Given the description of an element on the screen output the (x, y) to click on. 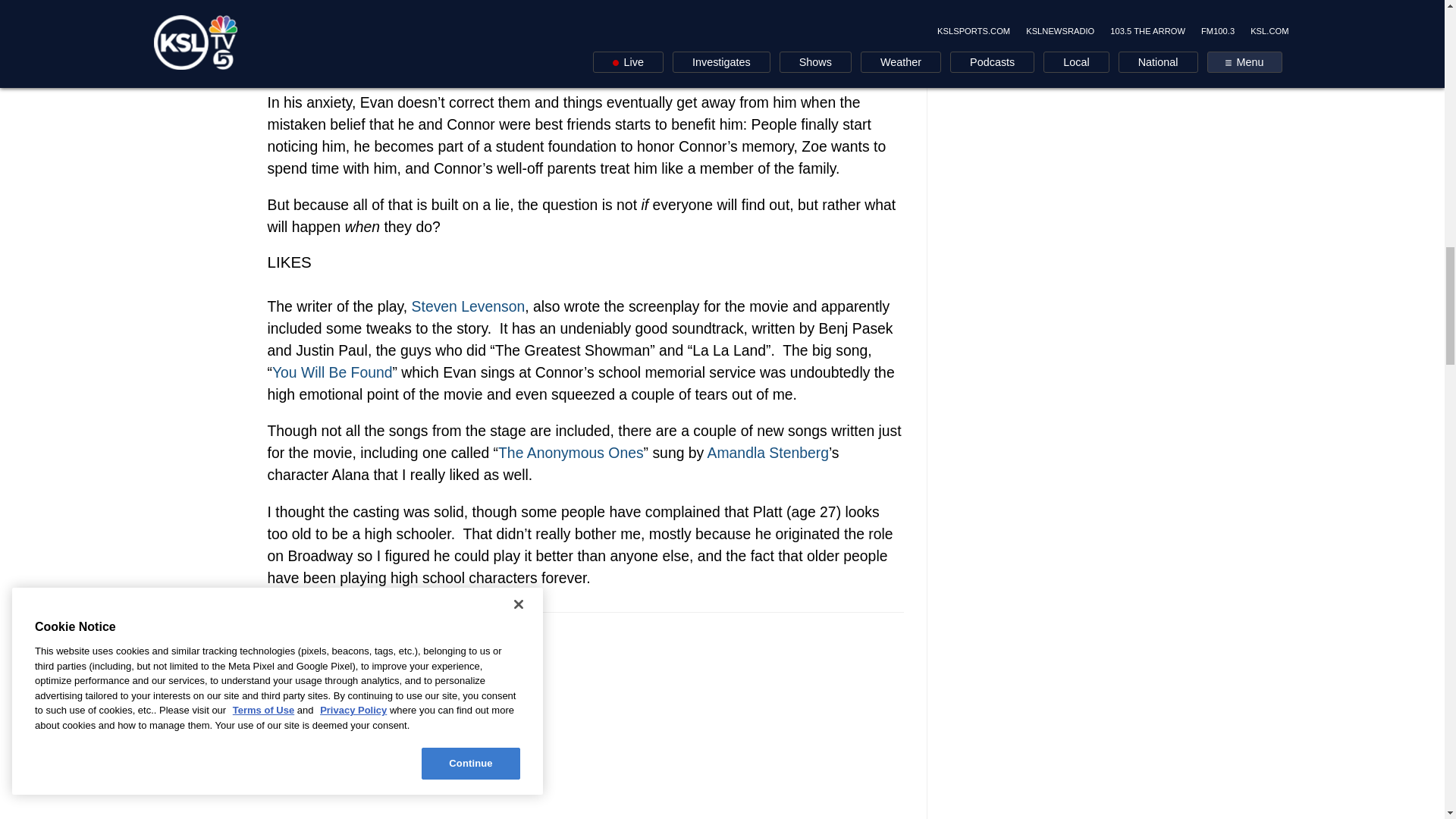
3rd party ad content (584, 727)
